Given the description of an element on the screen output the (x, y) to click on. 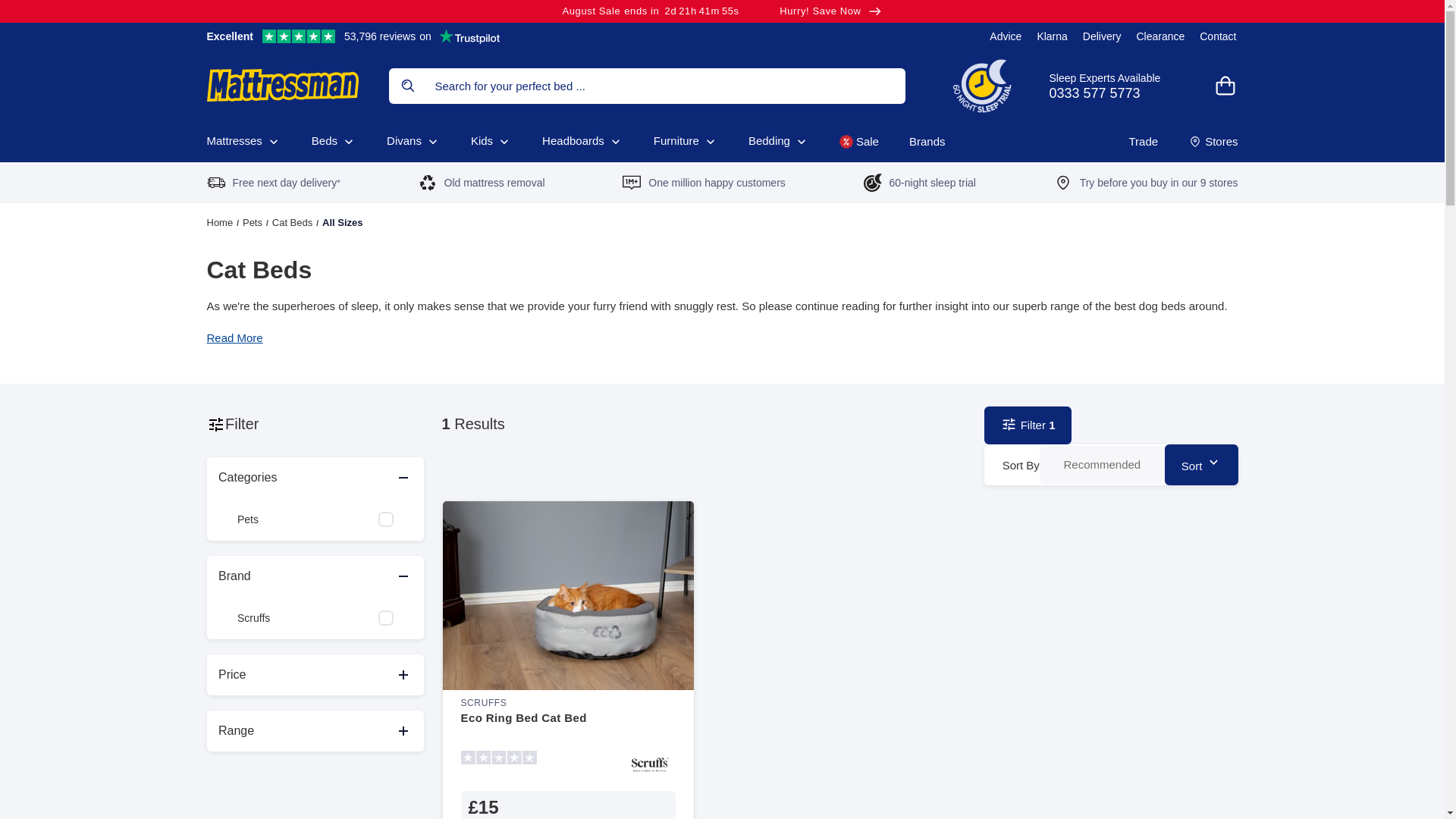
Advice (1006, 36)
Sort By (352, 36)
Mattresses (1115, 85)
Klarna (1101, 464)
Delivery (243, 141)
Contact (722, 11)
Clearance (1051, 36)
